Given the description of an element on the screen output the (x, y) to click on. 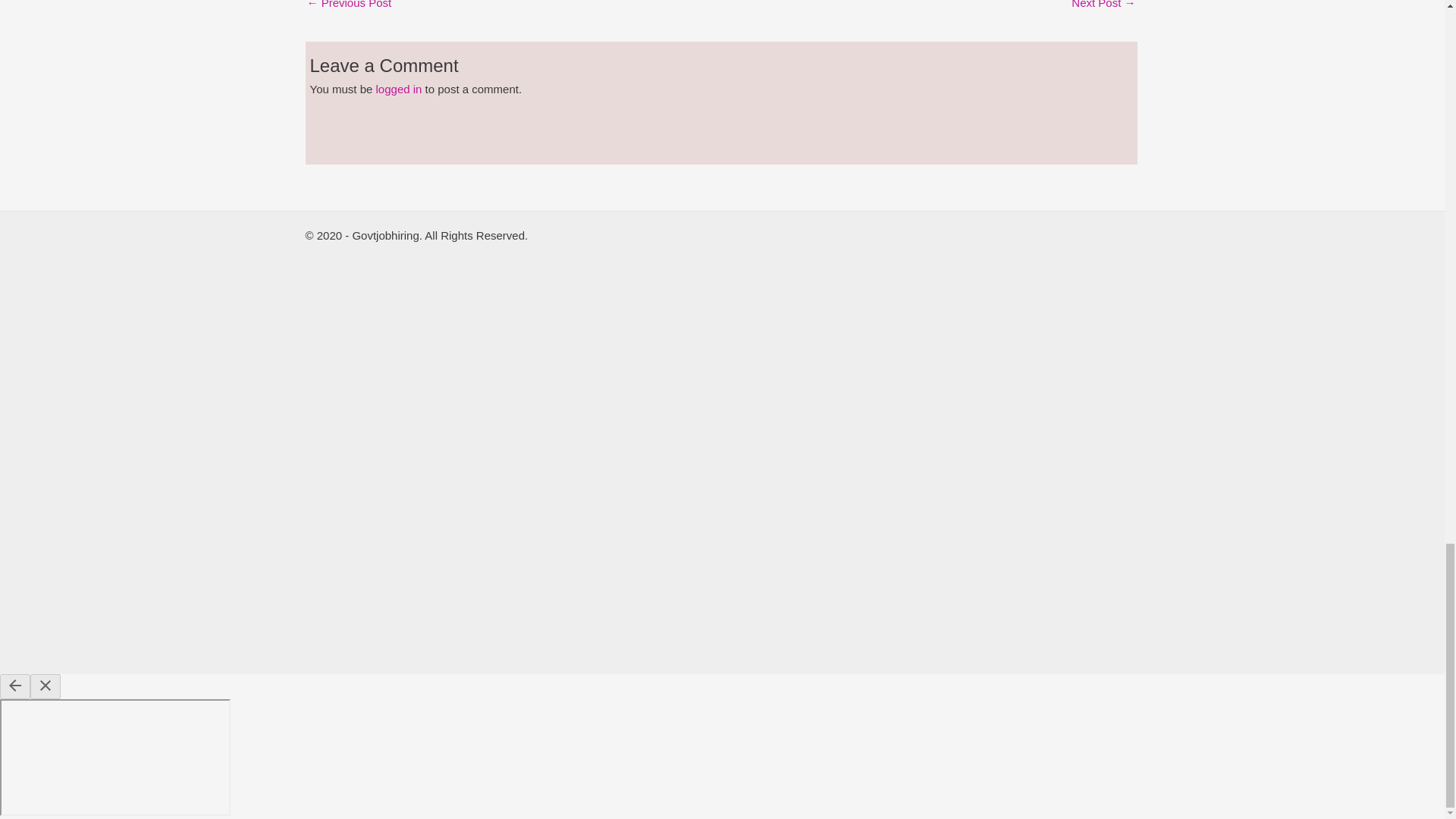
logged in (398, 88)
DMCA.com Protection Status (503, 442)
